Given the description of an element on the screen output the (x, y) to click on. 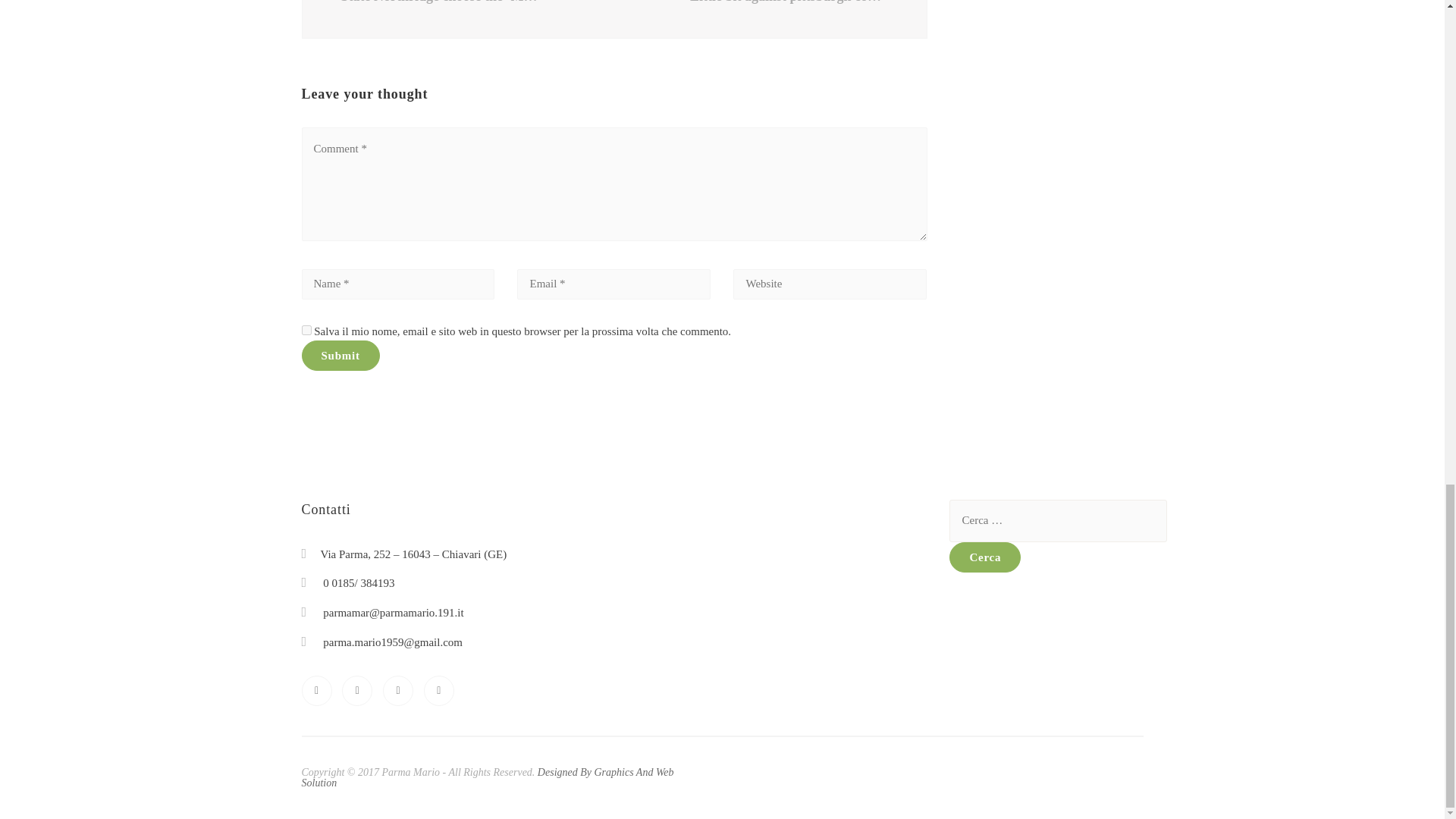
Submit (340, 355)
Cerca (984, 557)
Cerca (984, 557)
yes (306, 329)
